Given the description of an element on the screen output the (x, y) to click on. 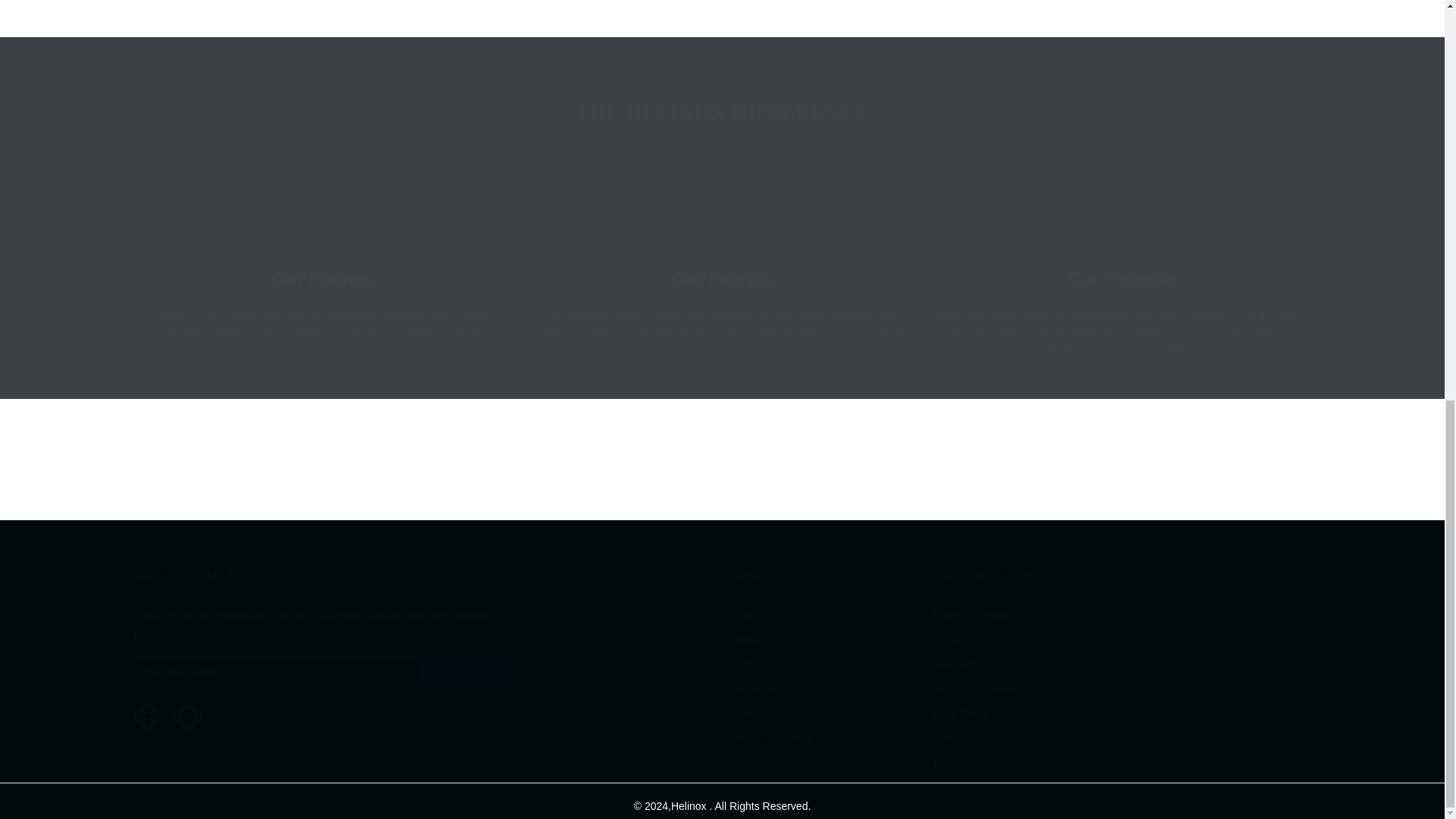
FAQs (946, 762)
Privacy (950, 639)
Price Policy (960, 713)
Warranty (954, 664)
Accessories (761, 688)
Tables (747, 639)
Chairs (747, 614)
SUBSCRIBE (466, 671)
Follow on Instagram (187, 716)
Cots (744, 664)
